Given the description of an element on the screen output the (x, y) to click on. 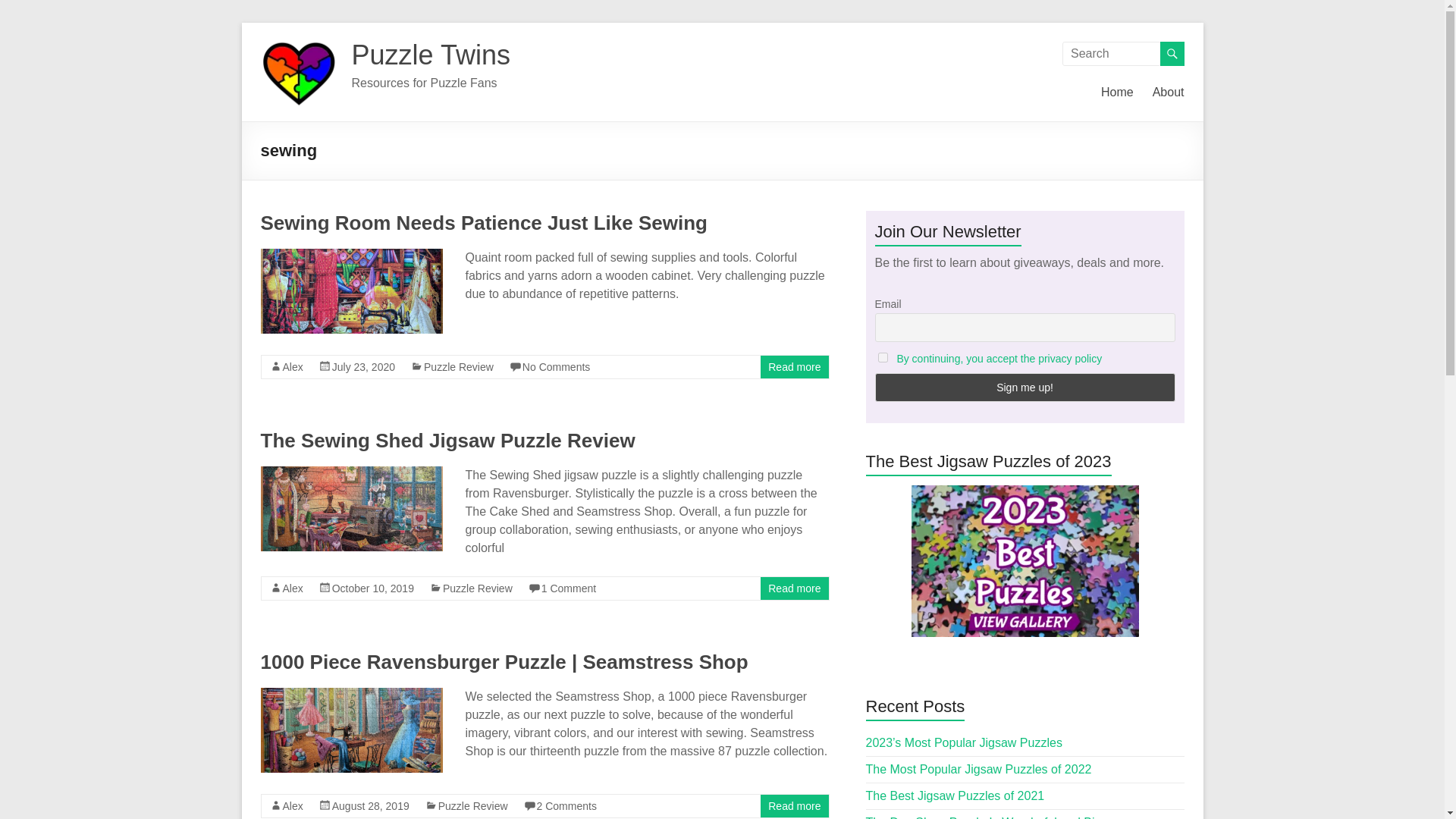
Puzzle Twins (431, 54)
2 Comments (566, 806)
Alex (292, 806)
Sewing Room Needs Patience Just Like Sewing (483, 222)
July 23, 2020 (362, 367)
Read more (794, 588)
Puzzle Review (473, 806)
The Most Popular Jigsaw Puzzles of 2022 (979, 768)
The Best Jigsaw Puzzles of 2021 (955, 795)
Puzzle Review (477, 588)
Puzzle Review (458, 367)
The Sewing Shed Jigsaw Puzzle Review (447, 440)
October 10, 2019 (372, 588)
Sign me up! (1024, 387)
